Given the description of an element on the screen output the (x, y) to click on. 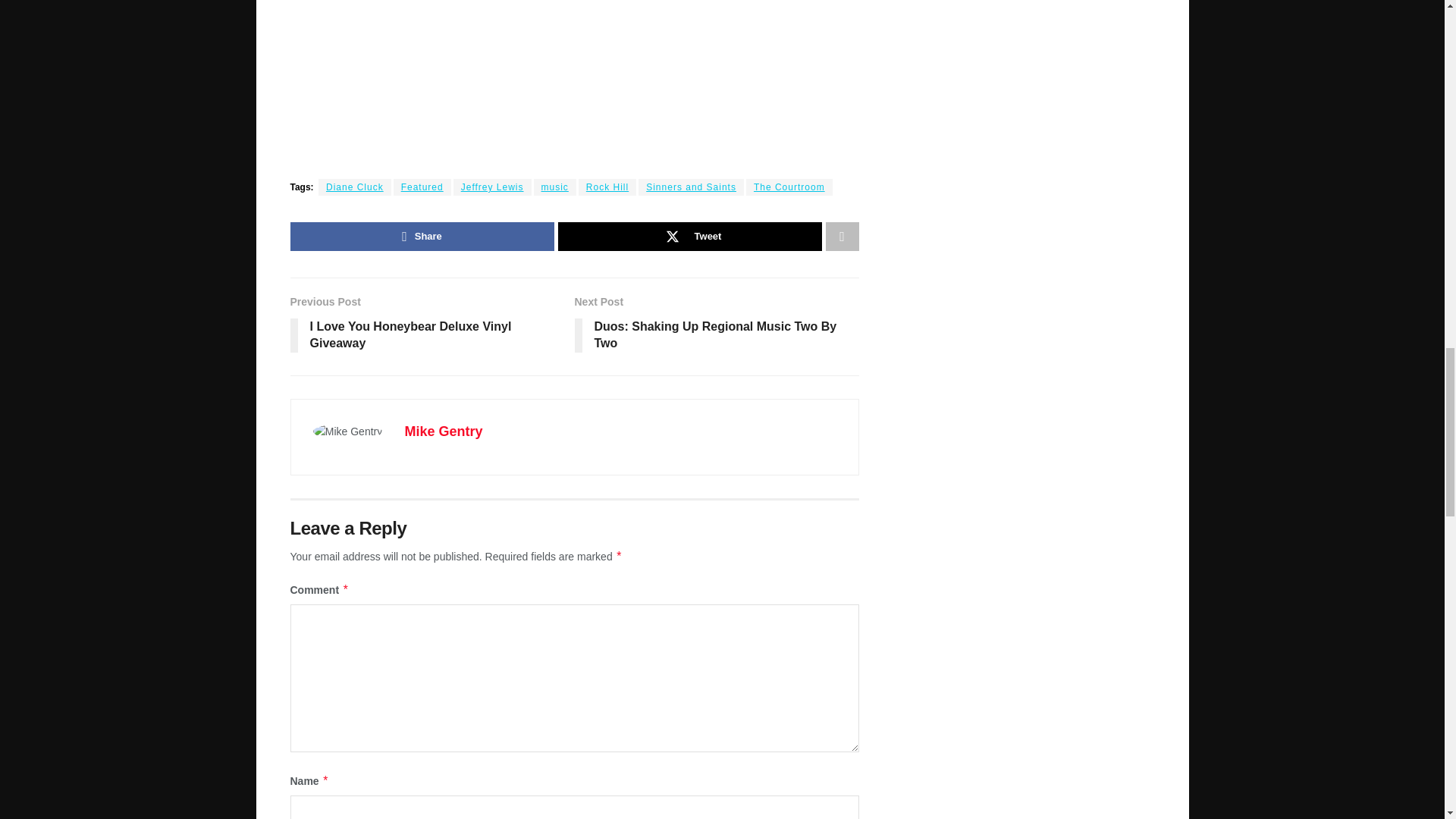
Diane Cluck (354, 187)
Jeffrey Lewis (491, 187)
music (555, 187)
Featured (422, 187)
